Given the description of an element on the screen output the (x, y) to click on. 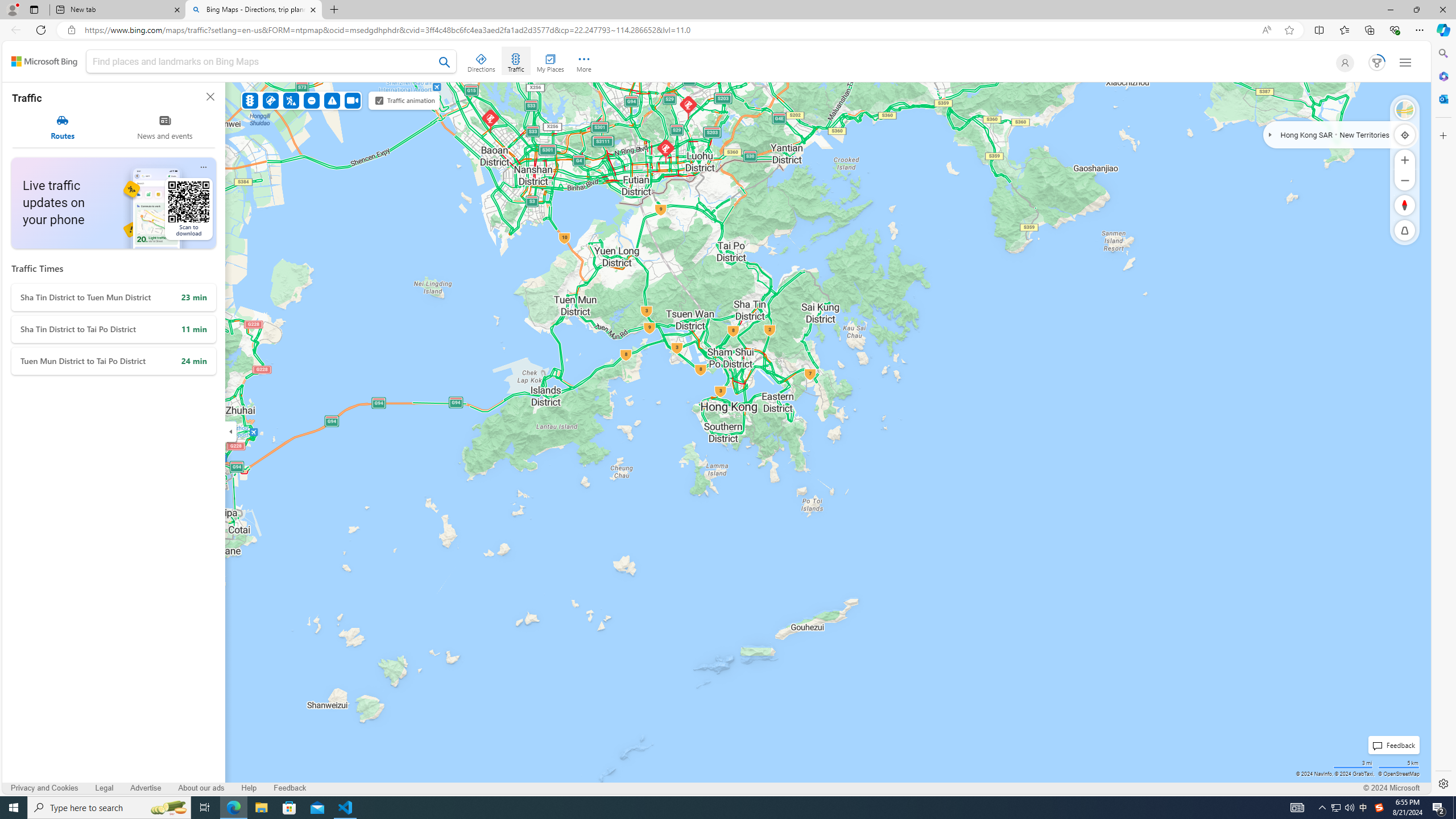
Sha Tin District to Tai Po District (113, 329)
Accidents (270, 100)
Reset to Default Pitch (1404, 230)
Cameras (353, 100)
Directions (481, 60)
AutomationID: rh_meter (1377, 61)
Zoom In (1404, 159)
Construction (290, 100)
Expand/Collapse Geochain (1269, 134)
